Given the description of an element on the screen output the (x, y) to click on. 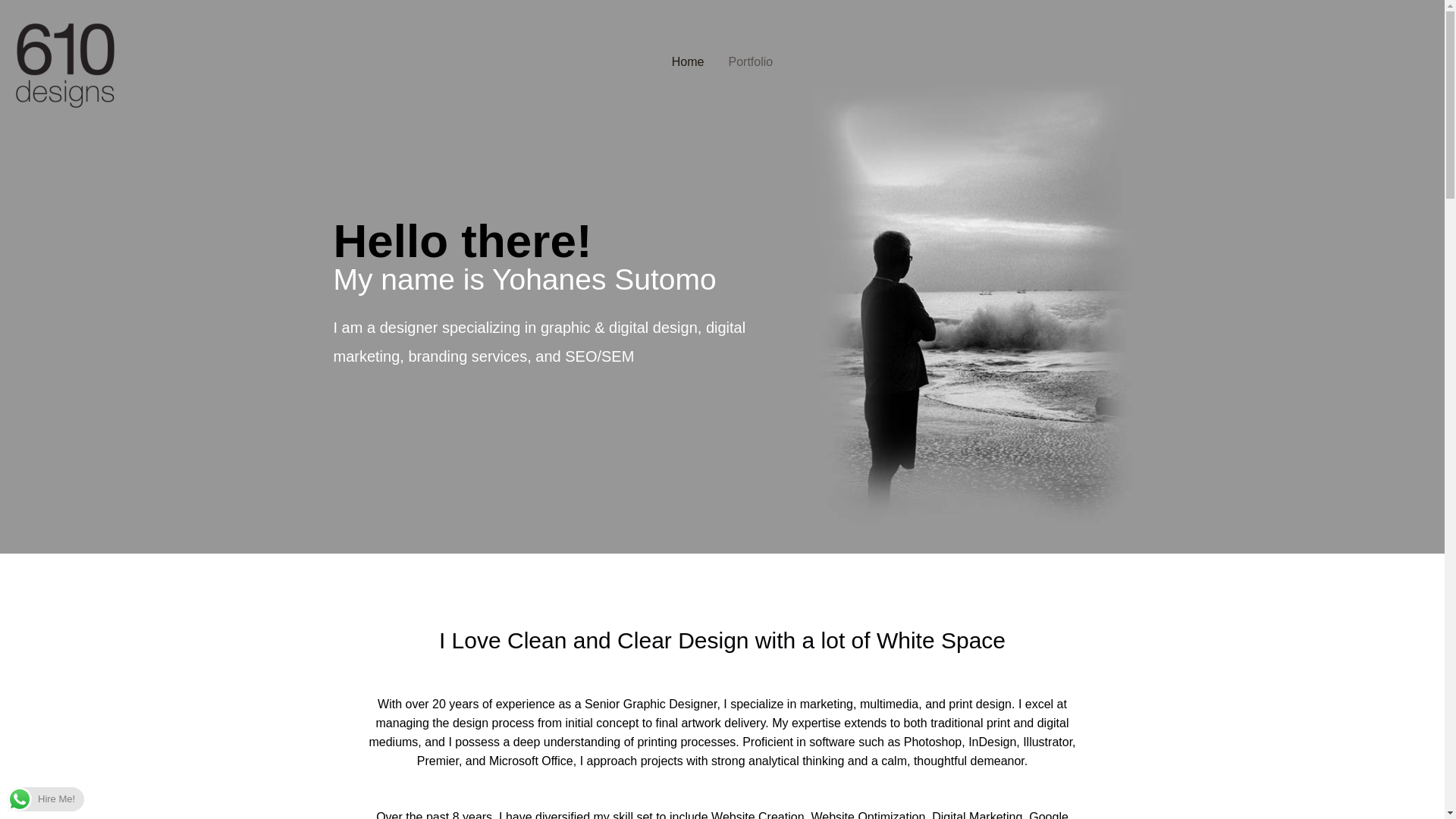
Home (687, 62)
Portfolio (750, 62)
